Given the description of an element on the screen output the (x, y) to click on. 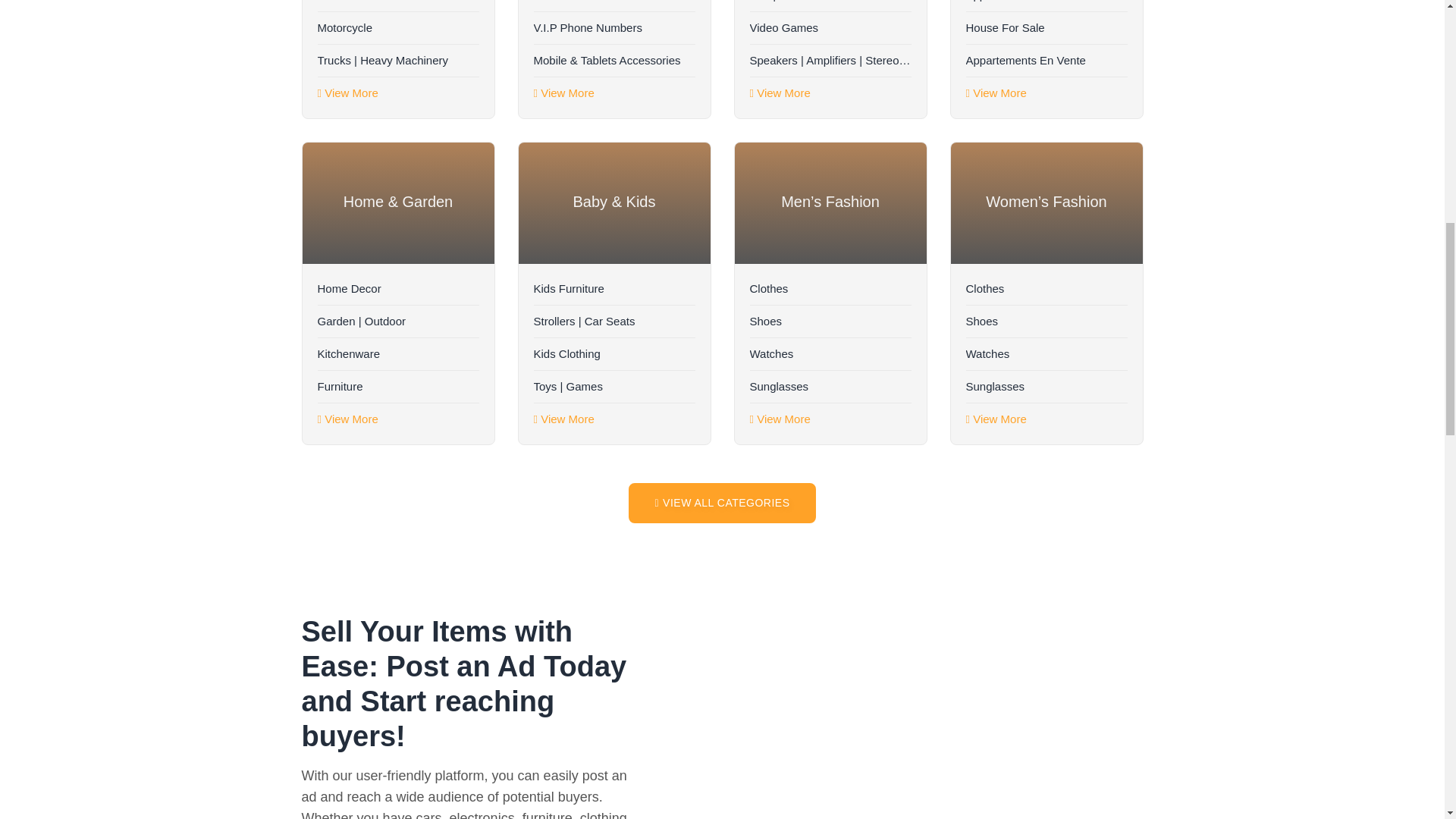
House For Sale (1046, 28)
Tablets (614, 5)
Cars For Rent (398, 5)
Appartements En Vente (1046, 60)
Appartements En Location (1046, 5)
Video Games (830, 28)
View More (347, 92)
V.I.P Phone Numbers (614, 28)
View More (779, 92)
Home Decor (398, 288)
View More (996, 92)
View More (564, 92)
Motorcycle (398, 28)
